Given the description of an element on the screen output the (x, y) to click on. 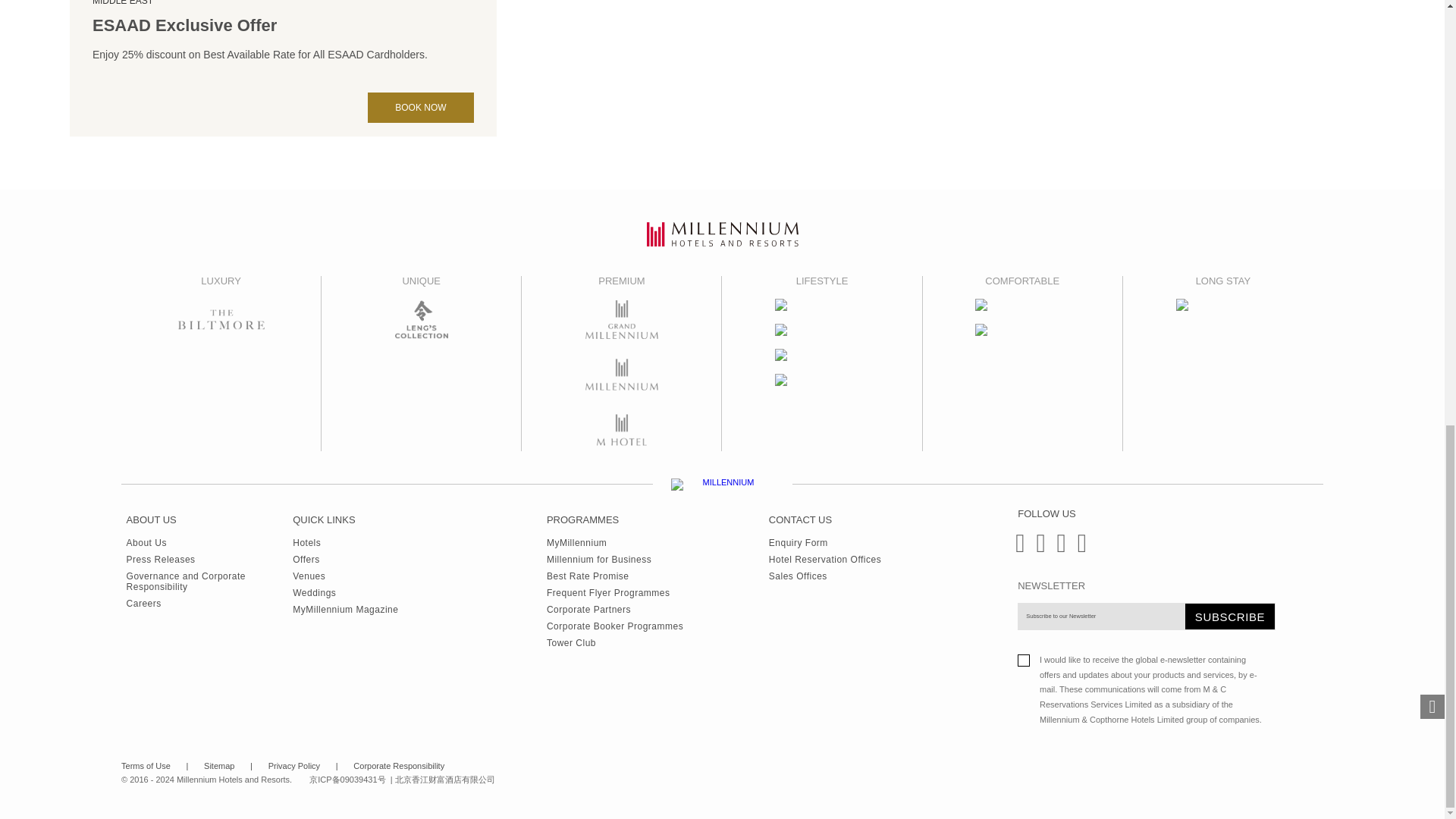
Careers (210, 600)
Offers (344, 556)
Trust Wave Seal (1220, 773)
Instagram (1036, 549)
Tower Club (614, 639)
About Us (210, 539)
Twitter (1058, 549)
Press Releases (210, 556)
MyMillennium (614, 539)
MyMillennium Magazine (344, 606)
